Given the description of an element on the screen output the (x, y) to click on. 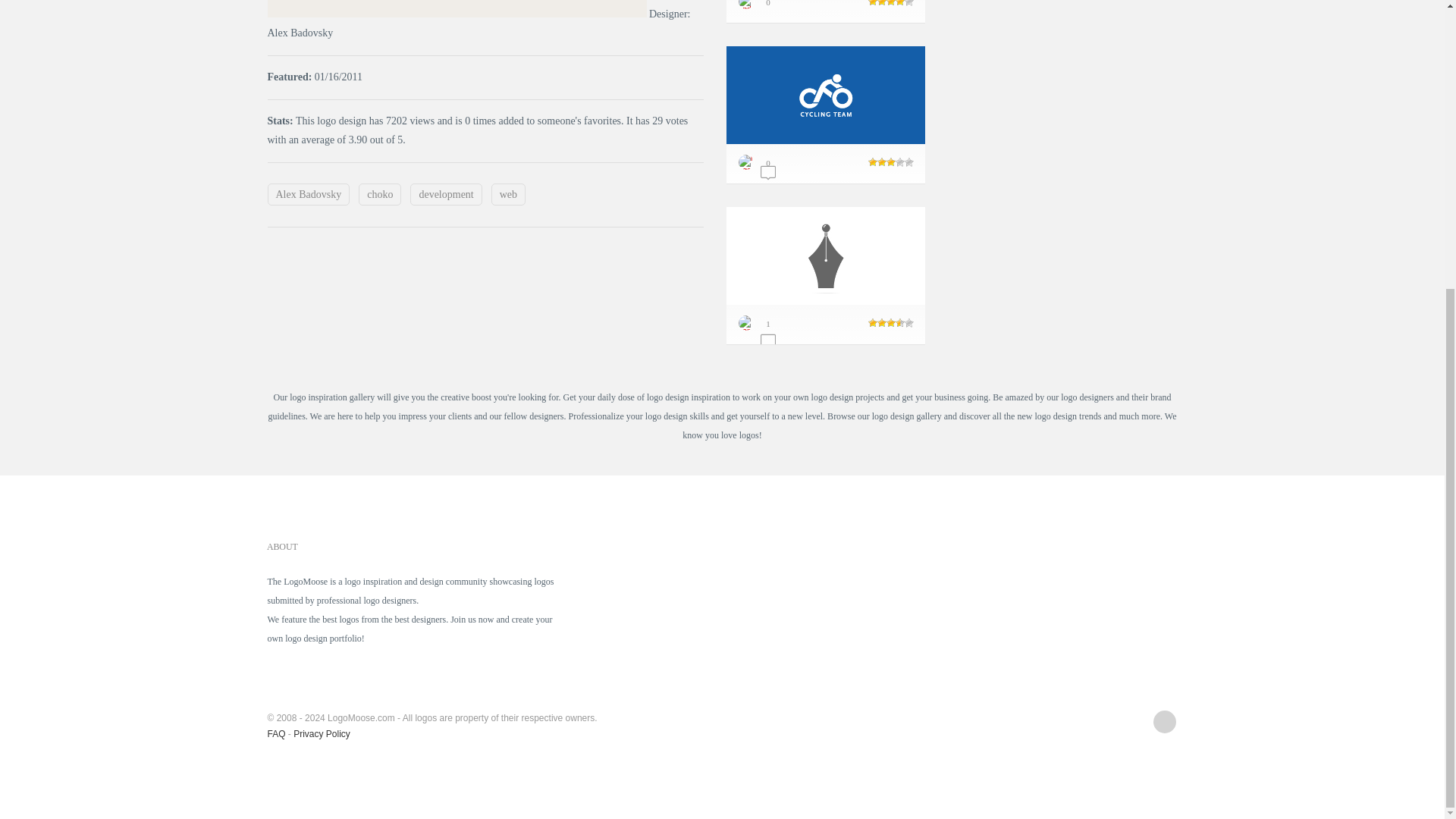
Alex Badovsky (307, 194)
web (508, 194)
FAQ (275, 733)
Privacy Policy (322, 733)
choko (379, 194)
development (445, 194)
